Given the description of an element on the screen output the (x, y) to click on. 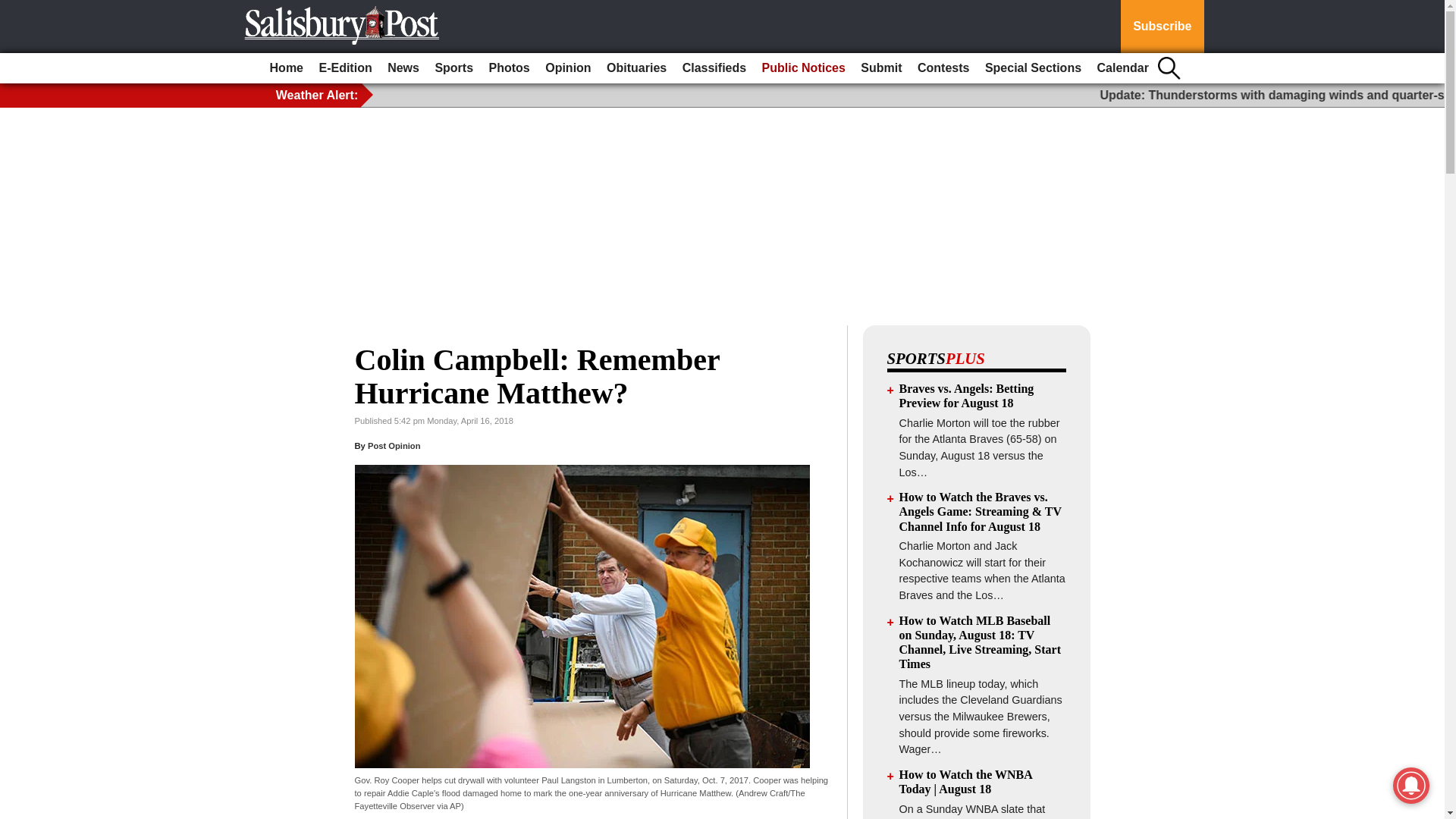
Subscribe (1162, 26)
Obituaries (635, 68)
Submit (880, 68)
Classifieds (714, 68)
Sports (453, 68)
News (403, 68)
Photos (509, 68)
Special Sections (1032, 68)
Public Notices (803, 68)
E-Edition (345, 68)
